Given the description of an element on the screen output the (x, y) to click on. 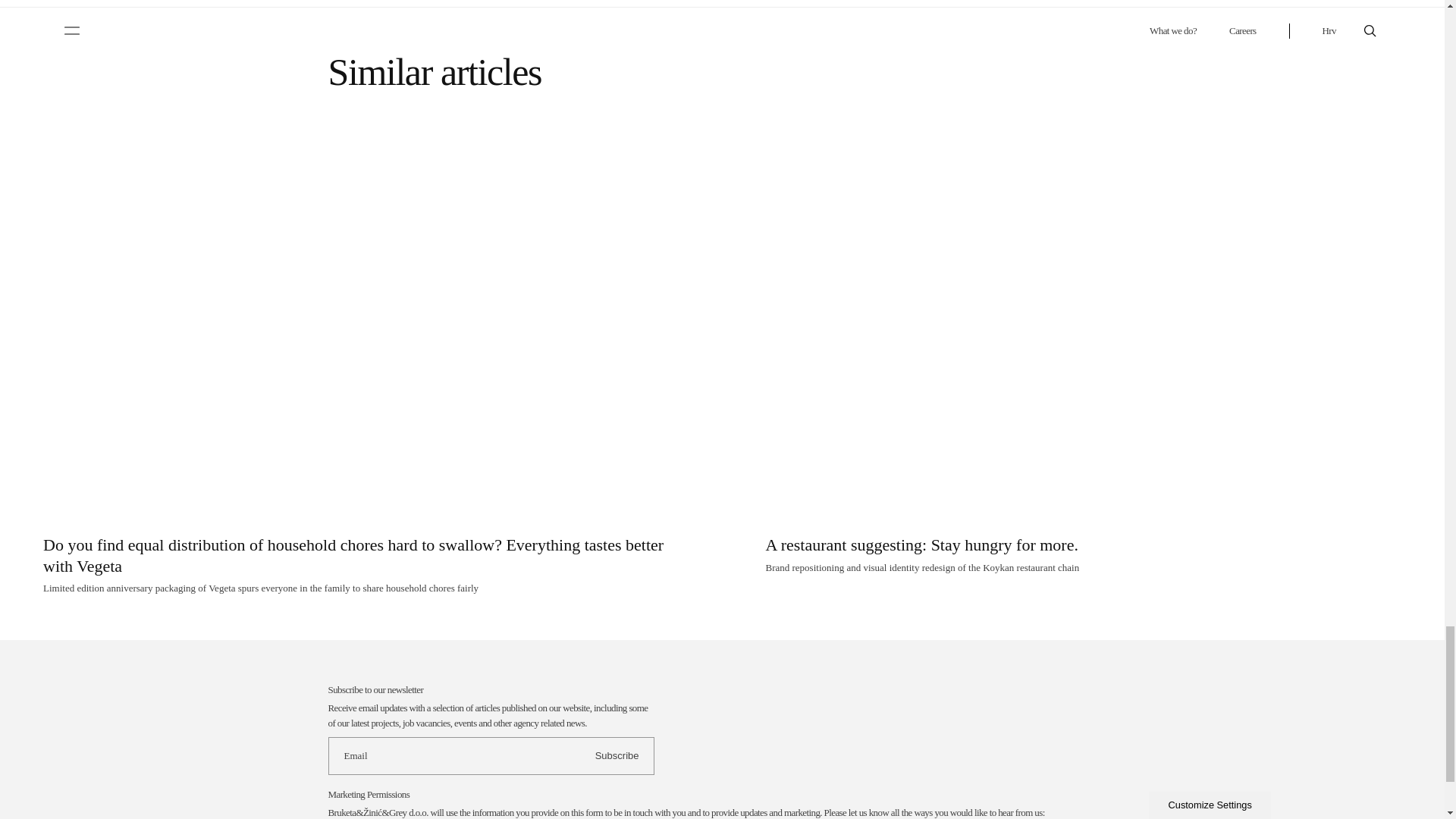
Subscribe (617, 756)
A restaurant suggesting: Stay hungry for more. (921, 544)
